Given the description of an element on the screen output the (x, y) to click on. 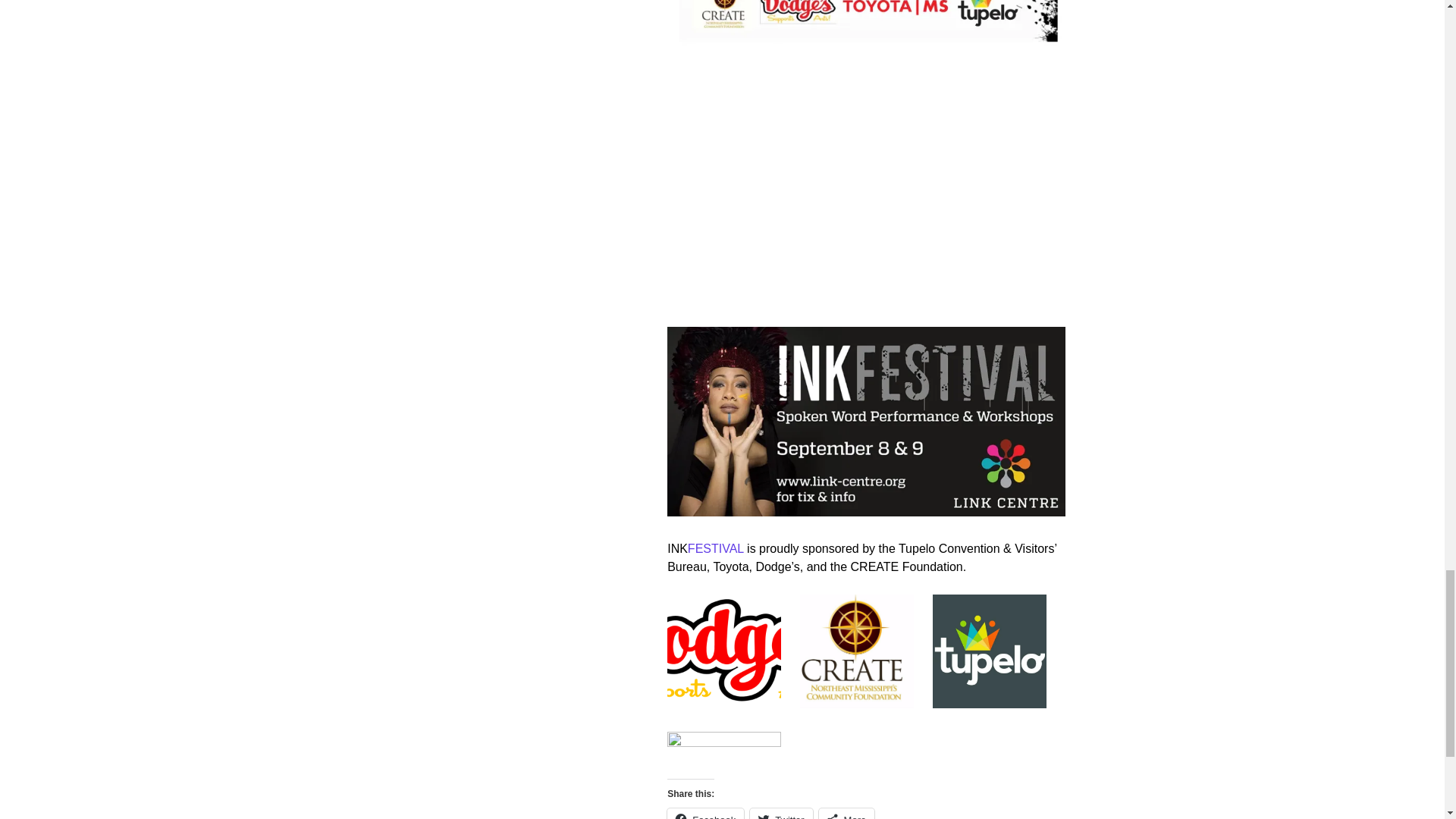
Click to share on Twitter (780, 813)
VideoPress Video Player (865, 191)
Click to share on Facebook (705, 813)
